Given the description of an element on the screen output the (x, y) to click on. 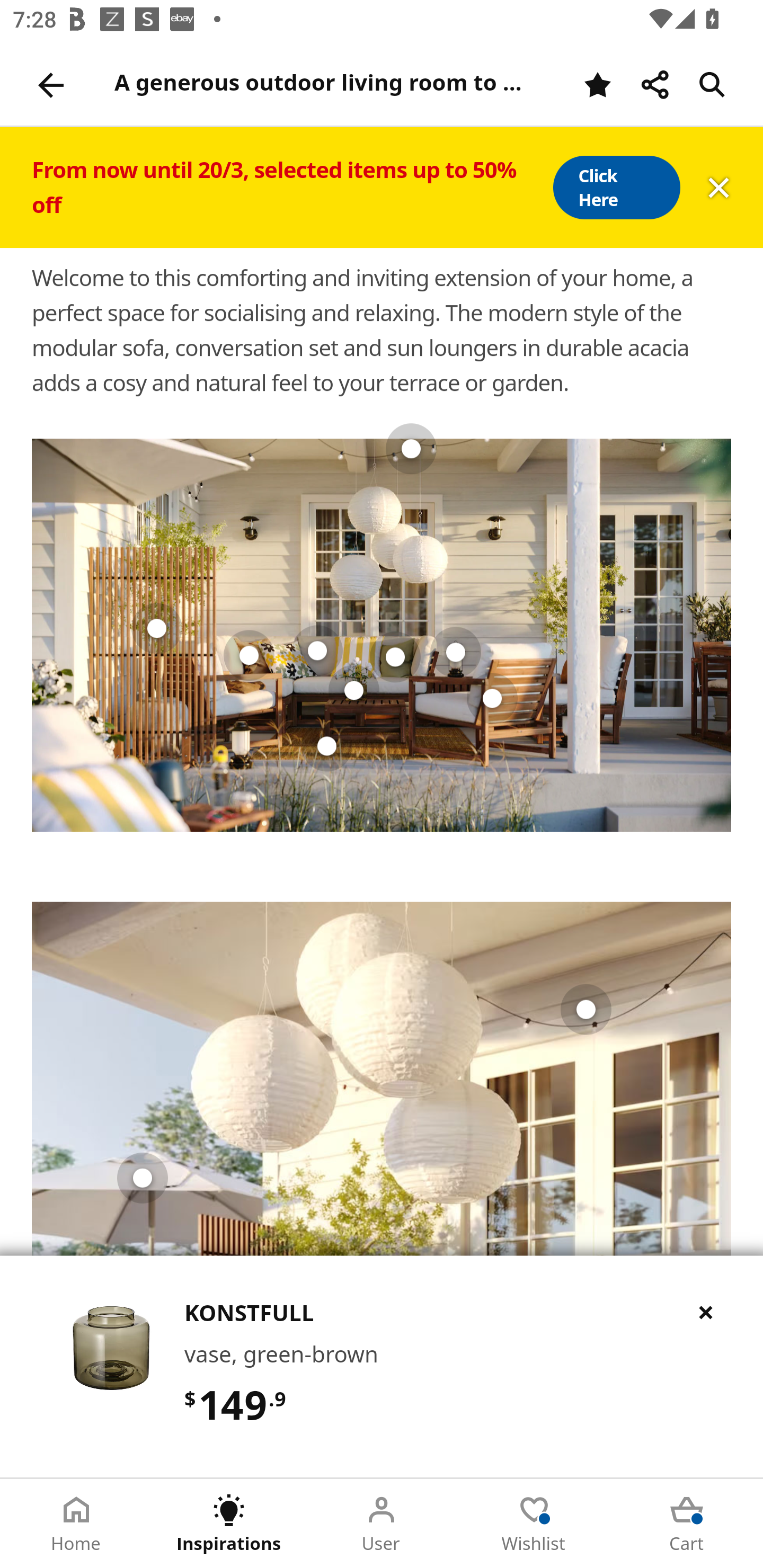
Click Here (615, 187)
​K​O​N​S​T​F​U​L​L​
vase, green-brown
$
149
.9 (381, 1366)
Home
Tab 1 of 5 (76, 1522)
Inspirations
Tab 2 of 5 (228, 1522)
User
Tab 3 of 5 (381, 1522)
Wishlist
Tab 4 of 5 (533, 1522)
Cart
Tab 5 of 5 (686, 1522)
